Given the description of an element on the screen output the (x, y) to click on. 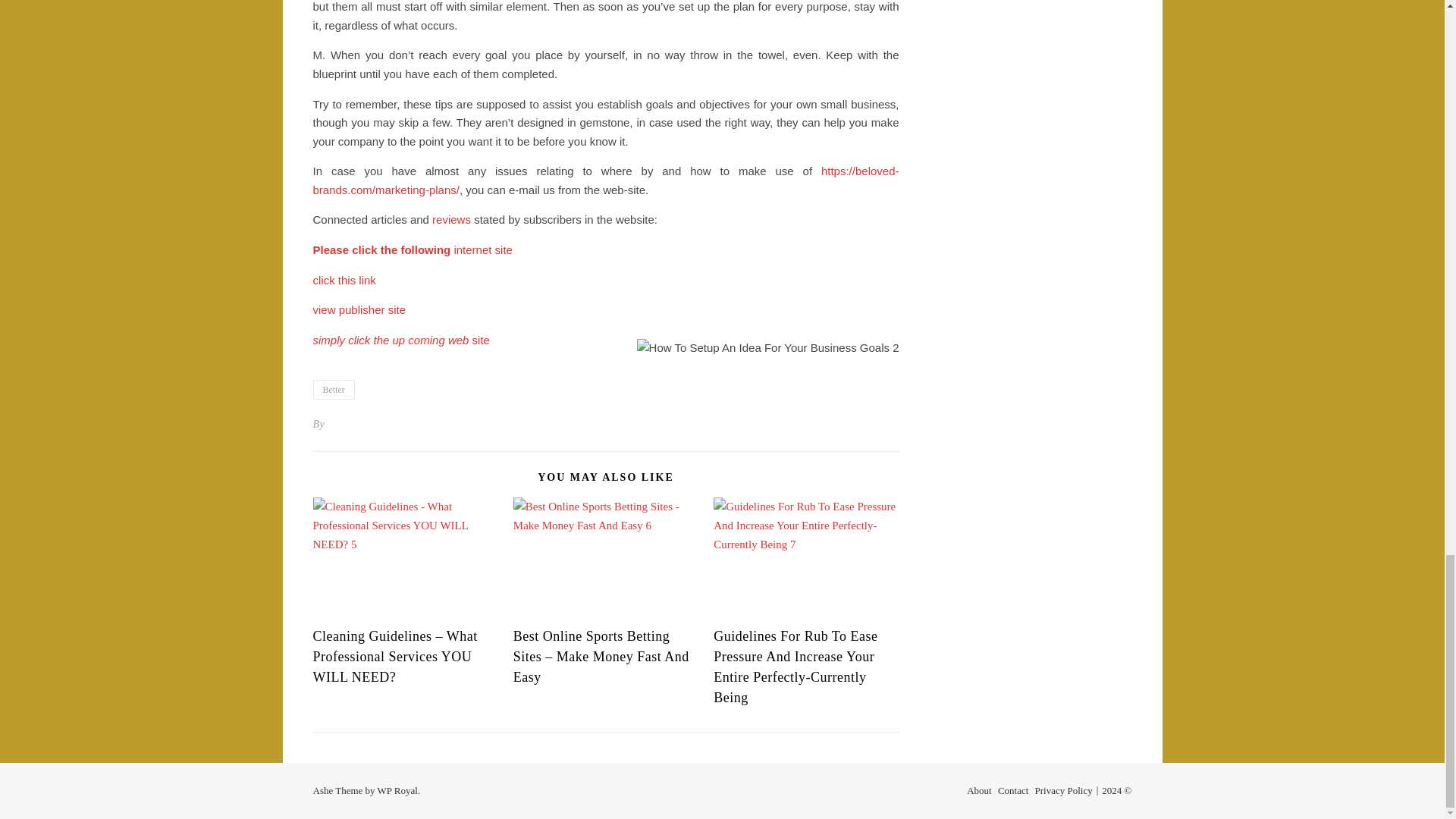
reviews (451, 219)
click this link (344, 279)
view publisher site (359, 309)
Better (333, 389)
simply click the up coming web site (401, 339)
Please click the following internet site (412, 249)
